Given the description of an element on the screen output the (x, y) to click on. 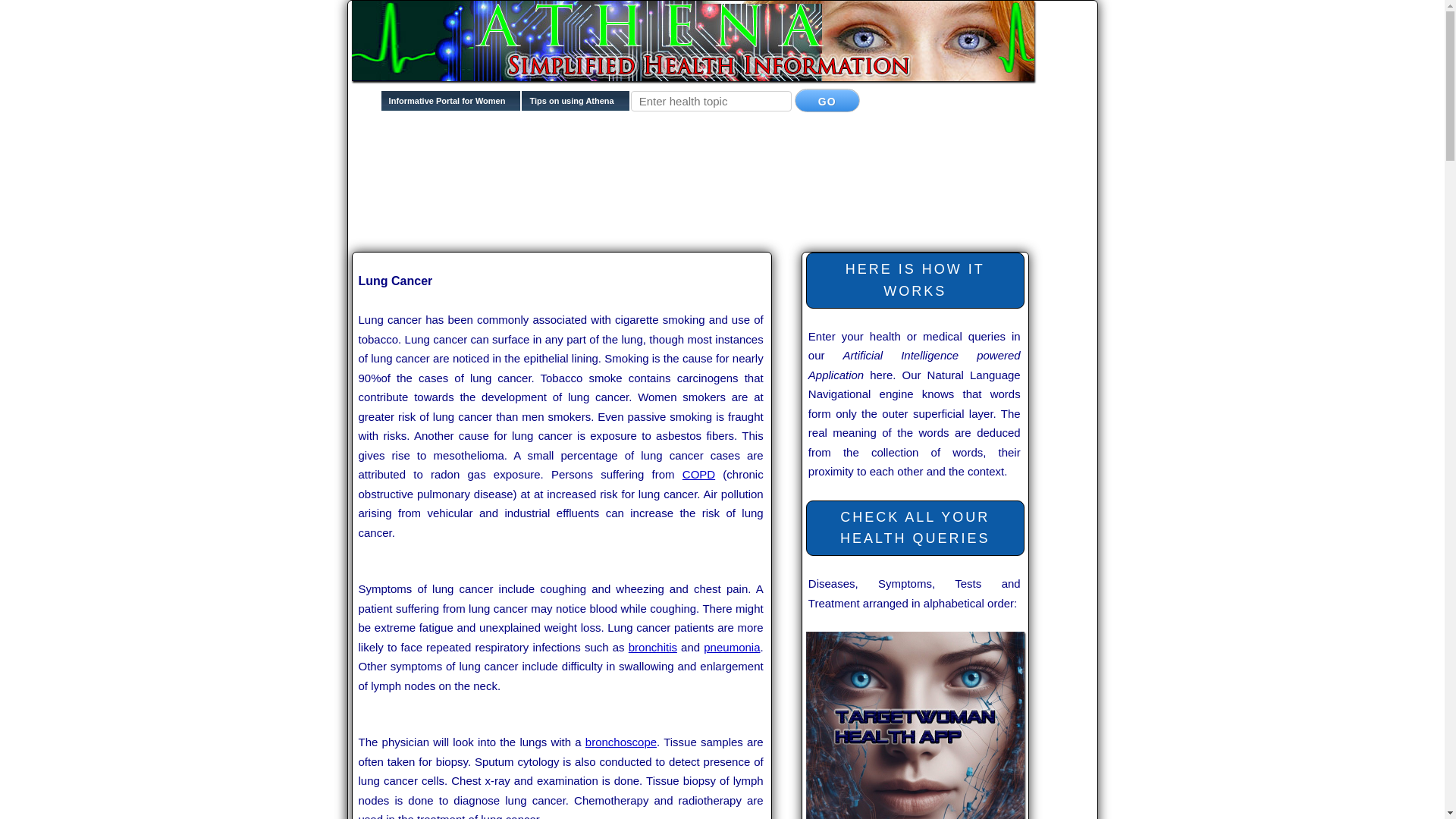
Go (827, 100)
Go (827, 100)
Tips on using TargetWoman Condensed Health Information Tool (574, 104)
bronchoscope (620, 741)
Tips on using Athena (574, 104)
bronchitis (652, 646)
Advertisement (628, 175)
Information Portal for Women - Targetwoman (451, 104)
Advertisement (628, 222)
Informative Portal for Women (451, 104)
COPD (698, 473)
pneumonia (731, 646)
COPD (698, 473)
